Given the description of an element on the screen output the (x, y) to click on. 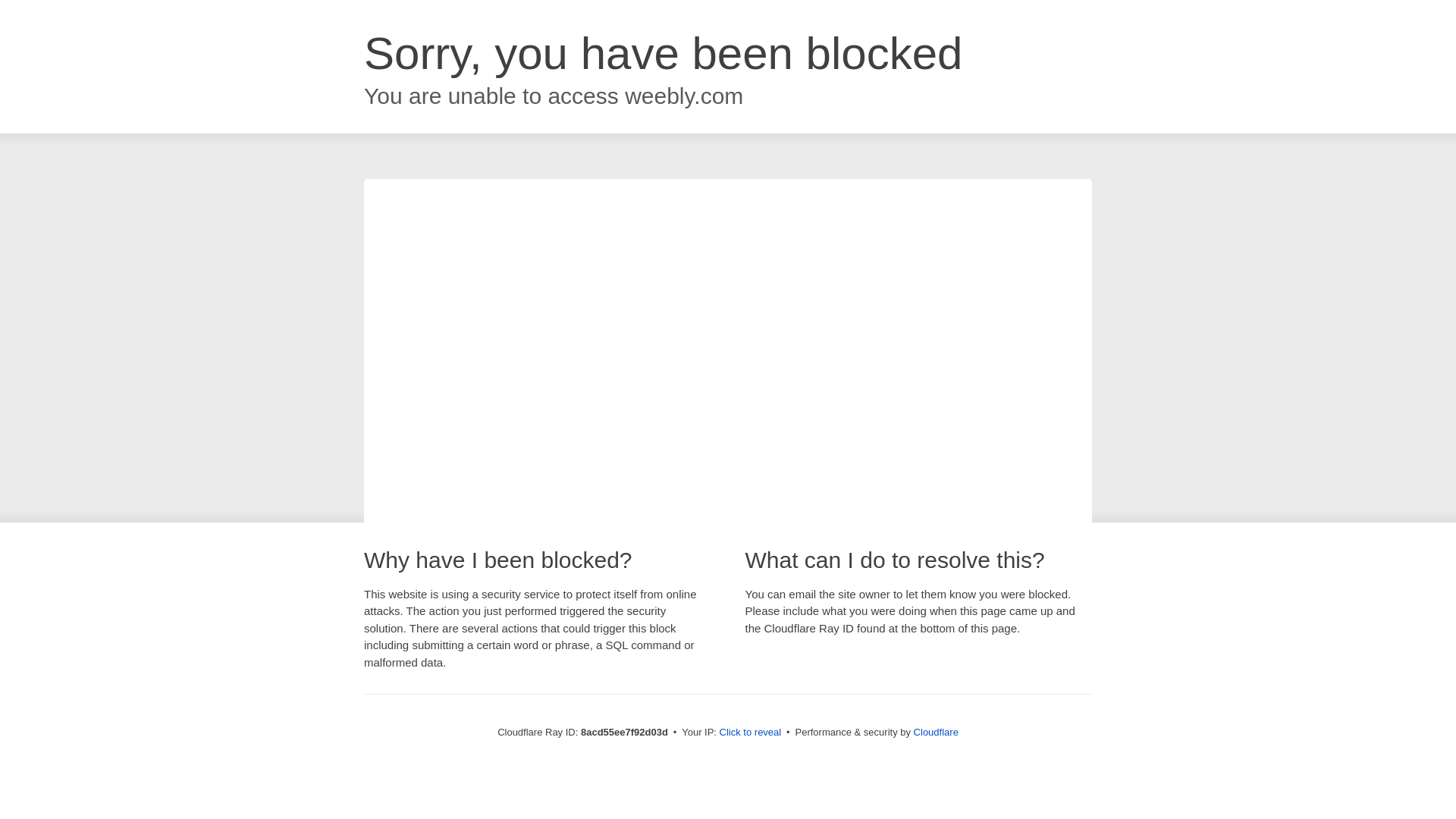
Click to reveal (750, 732)
Cloudflare (936, 731)
